Given the description of an element on the screen output the (x, y) to click on. 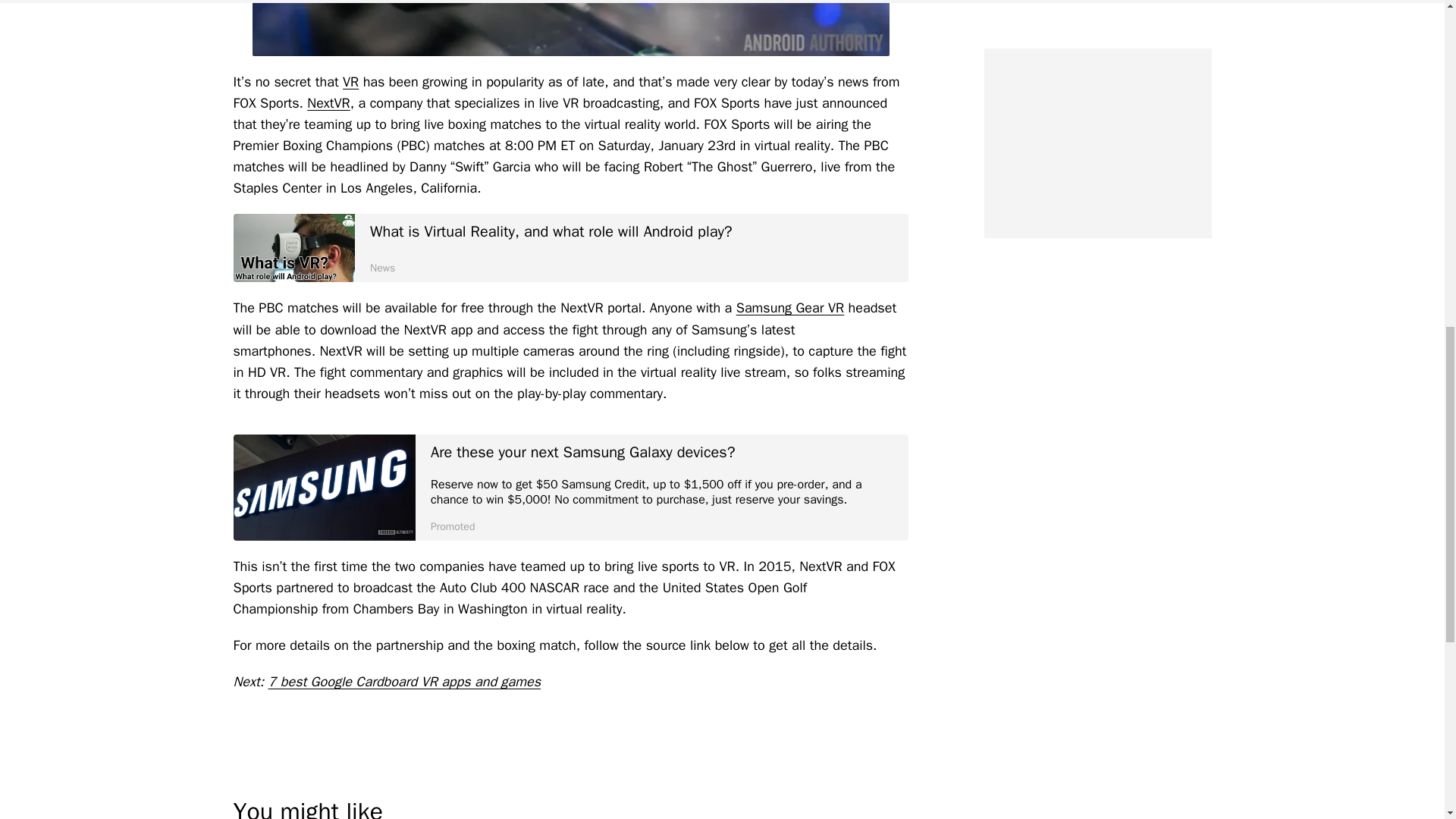
what-is-vr-video-thumb (293, 247)
Samsung Gear VR (790, 307)
VR (350, 81)
NextVR (328, 103)
7 best Google Cardboard VR apps and games (404, 681)
